Given the description of an element on the screen output the (x, y) to click on. 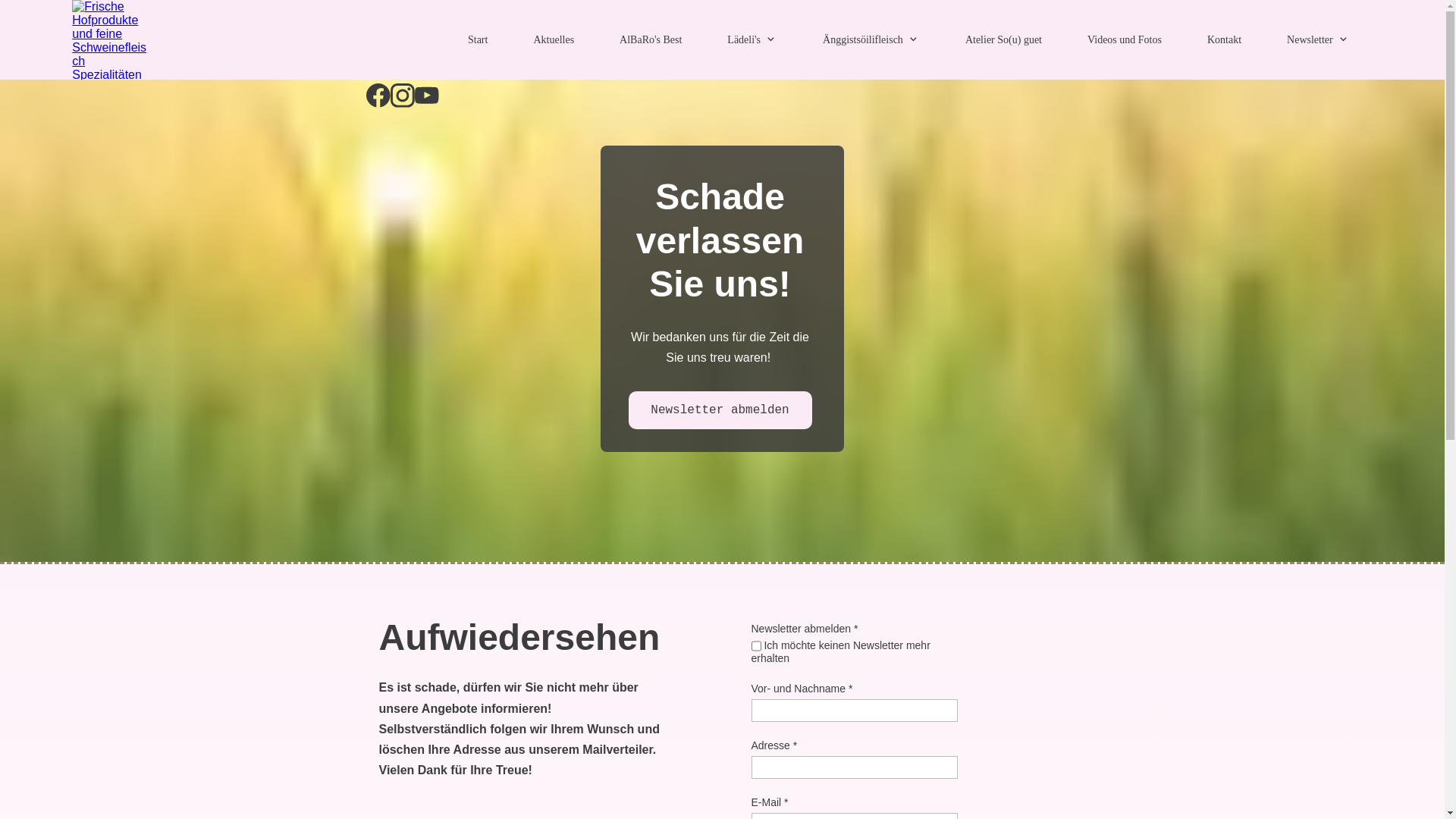
Newsletter abmelden Element type: text (719, 410)
Aktuelles Element type: text (553, 39)
Start Element type: text (477, 39)
Atelier So(u) guet Element type: text (1003, 39)
Videos und Fotos Element type: text (1124, 39)
Newsletter Element type: text (1318, 39)
Kontakt Element type: text (1224, 39)
AlBaRo's Best Element type: text (650, 39)
